Given the description of an element on the screen output the (x, y) to click on. 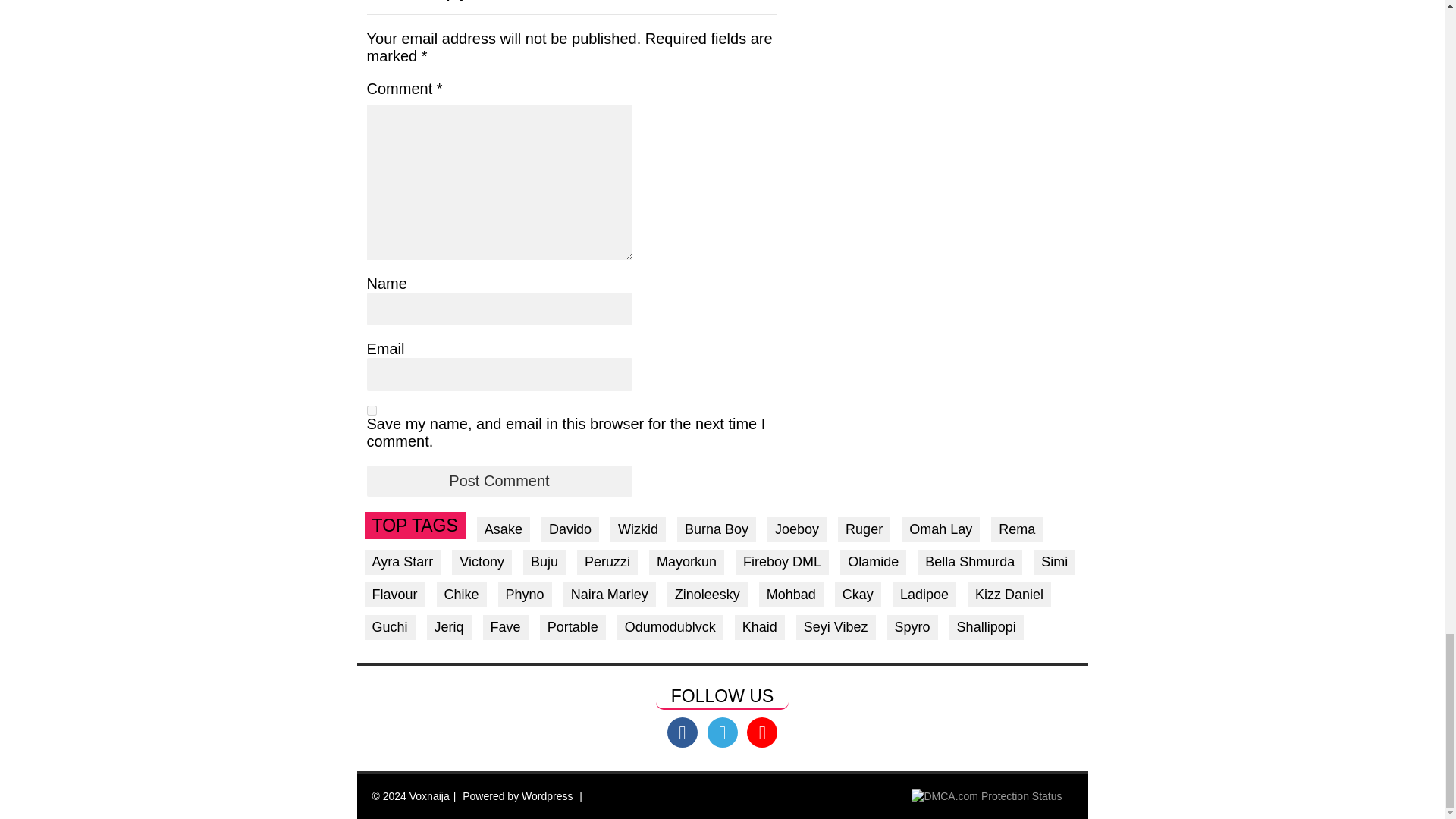
Post Comment (498, 481)
yes (371, 410)
